Given the description of an element on the screen output the (x, y) to click on. 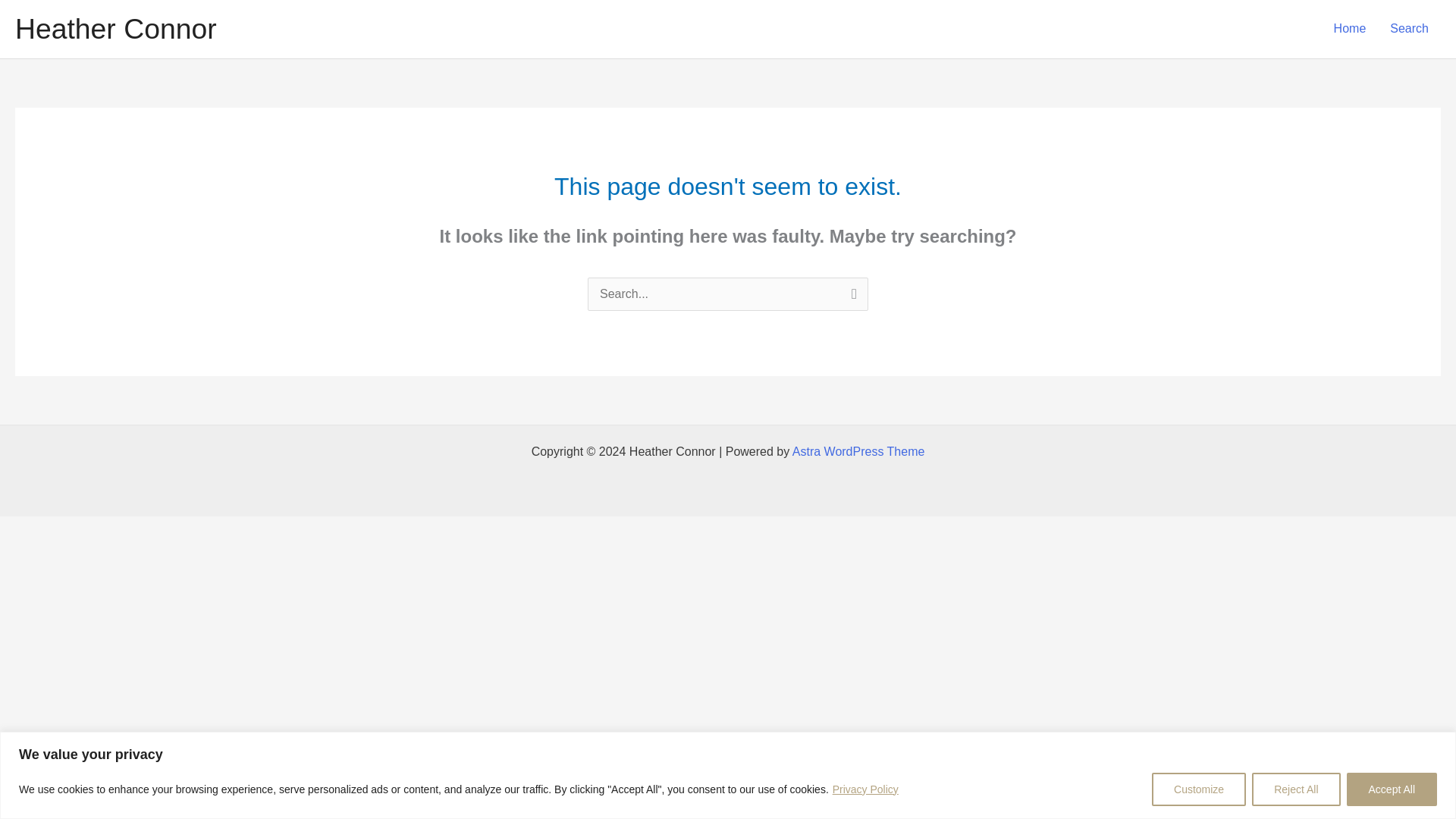
Home (1350, 28)
Heather Connor (115, 29)
Search (1409, 28)
